Given the description of an element on the screen output the (x, y) to click on. 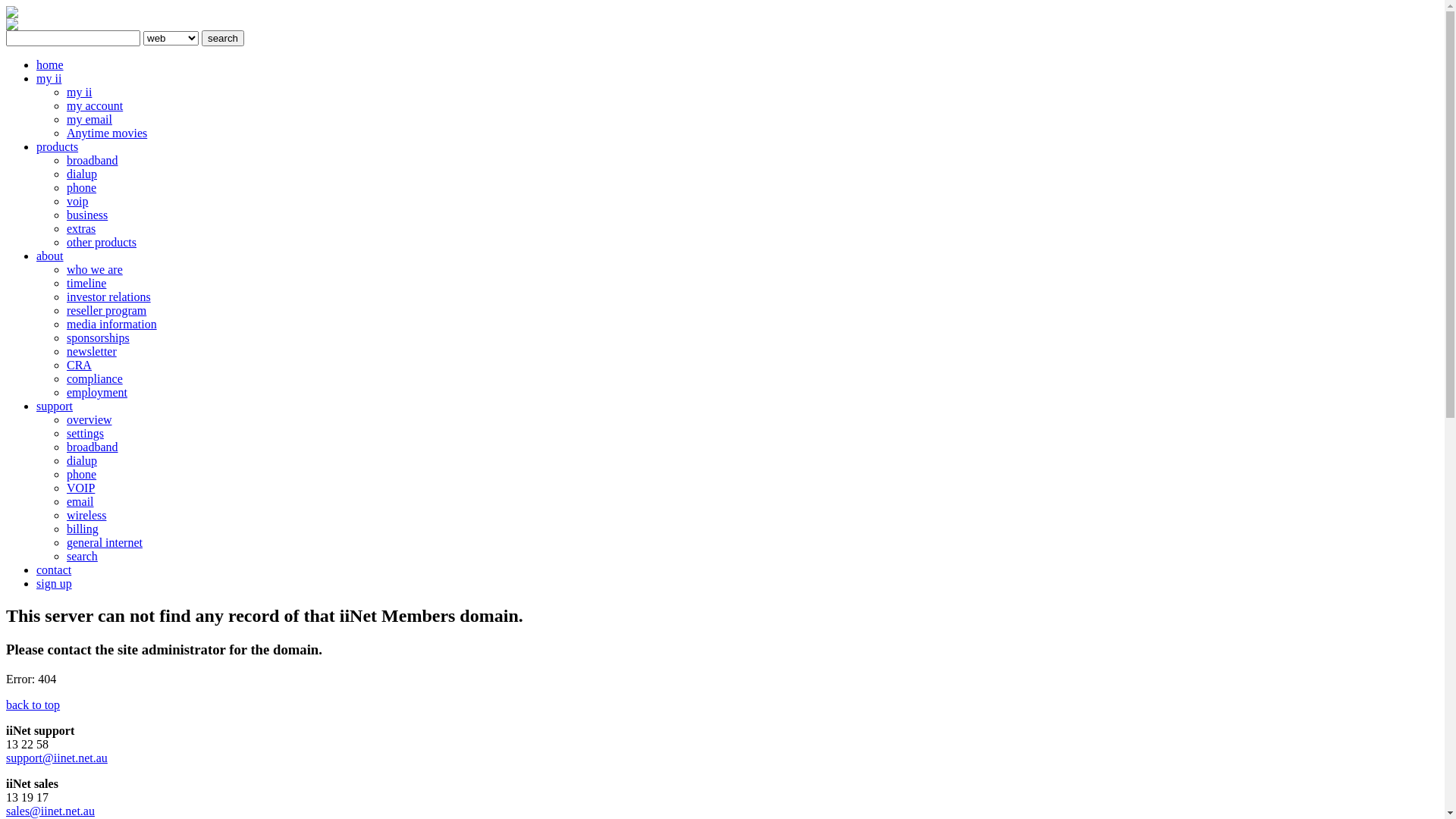
overview Element type: text (89, 419)
reseller program Element type: text (106, 310)
back to top Element type: text (32, 704)
business Element type: text (86, 214)
my email Element type: text (89, 118)
voip Element type: text (76, 200)
sign up Element type: text (54, 583)
sales@iinet.net.au Element type: text (50, 810)
timeline Element type: text (86, 282)
compliance Element type: text (94, 378)
who we are Element type: text (94, 269)
email Element type: text (80, 501)
billing Element type: text (82, 528)
support@iinet.net.au Element type: text (56, 757)
extras Element type: text (80, 228)
search Element type: text (222, 38)
my ii Element type: text (78, 91)
broadband Element type: text (92, 446)
investor relations Element type: text (108, 296)
general internet Element type: text (104, 542)
my account Element type: text (94, 105)
dialup Element type: text (81, 173)
products Element type: text (57, 146)
settings Element type: text (84, 432)
dialup Element type: text (81, 460)
my ii Element type: text (48, 78)
sponsorships Element type: text (97, 337)
Anytime movies Element type: text (106, 132)
contact Element type: text (53, 569)
search Element type: text (81, 555)
phone Element type: text (81, 187)
CRA Element type: text (78, 364)
wireless Element type: text (86, 514)
VOIP Element type: text (80, 487)
about Element type: text (49, 255)
other products Element type: text (101, 241)
media information Element type: text (111, 323)
support Element type: text (54, 405)
newsletter Element type: text (91, 351)
employment Element type: text (96, 391)
phone Element type: text (81, 473)
broadband Element type: text (92, 159)
home Element type: text (49, 64)
